Given the description of an element on the screen output the (x, y) to click on. 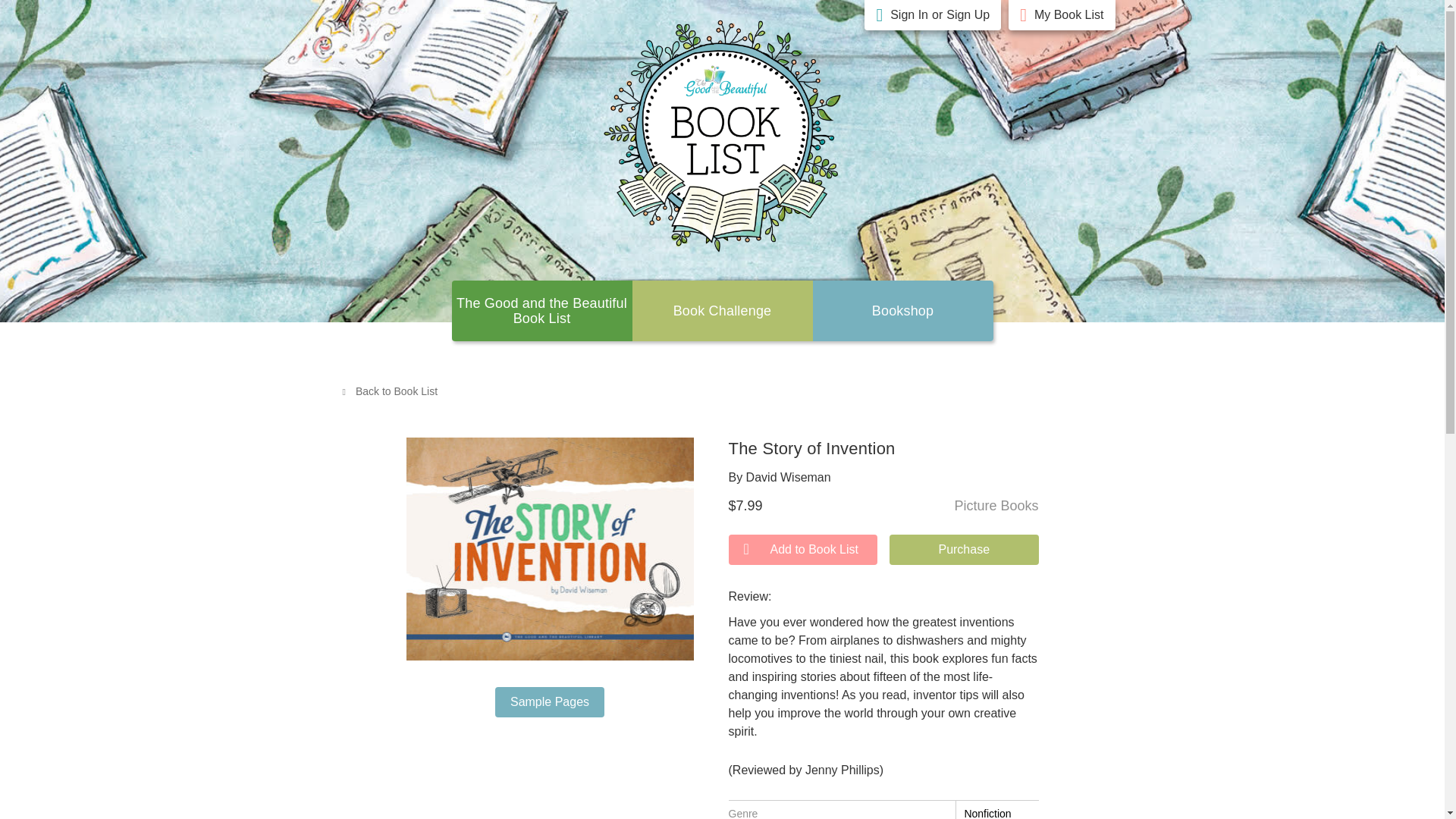
Book Challenge (721, 310)
Add to Book List (802, 549)
Back to Book List (389, 390)
Library (903, 310)
The Good and the Beautiful Book List (541, 310)
Bookshop (903, 310)
Sample Pages (549, 702)
Sign Up (968, 14)
Sign In (908, 14)
Purchase (964, 549)
